Given the description of an element on the screen output the (x, y) to click on. 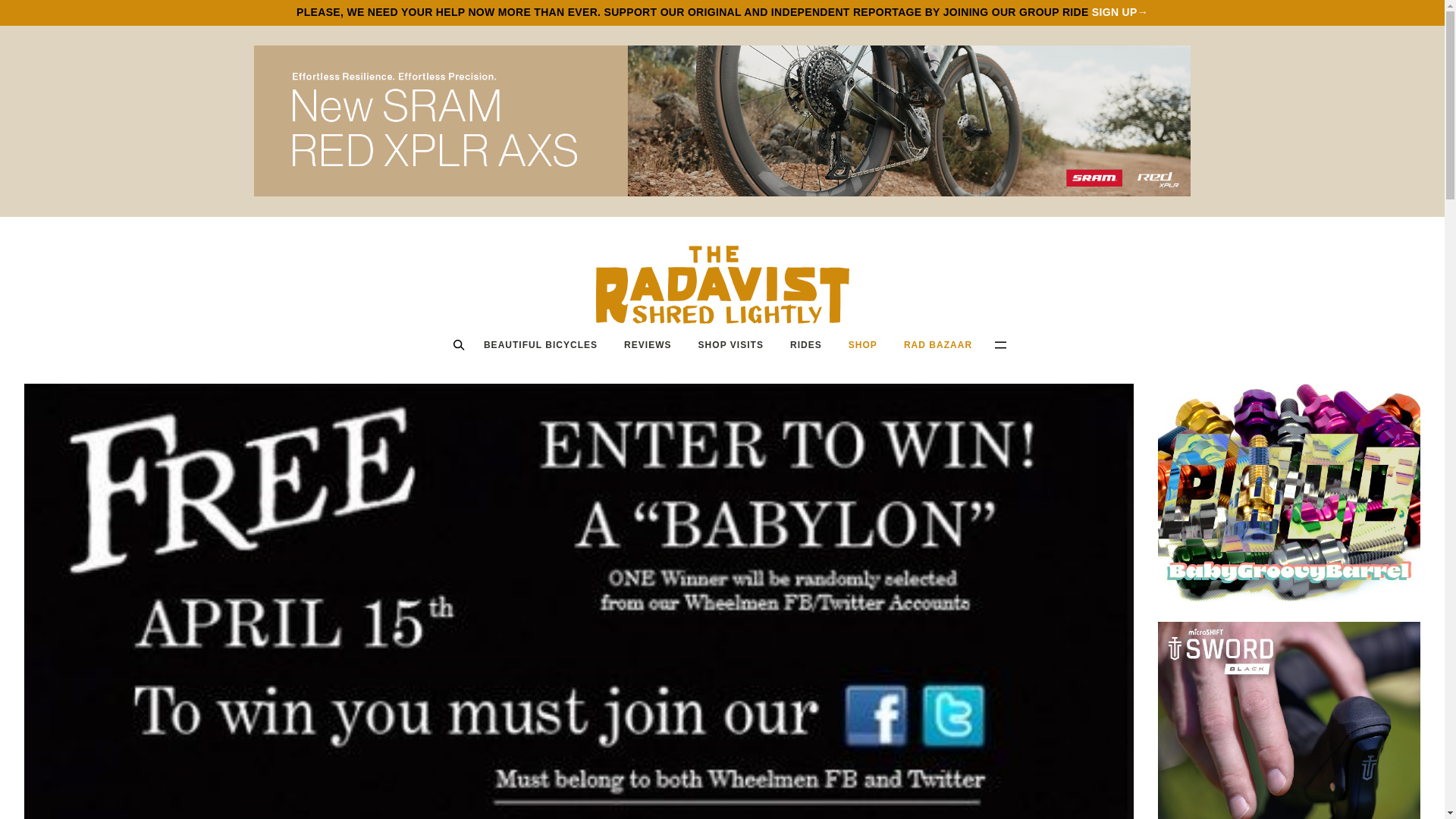
MicroShift (1289, 720)
SHOP VISITS (730, 344)
RAD BAZAAR (937, 344)
RIDES (805, 344)
REVIEWS (647, 344)
The Radavist (721, 284)
SHOP (862, 344)
Paul Components (1289, 492)
BEAUTIFUL BICYCLES (540, 344)
